Given the description of an element on the screen output the (x, y) to click on. 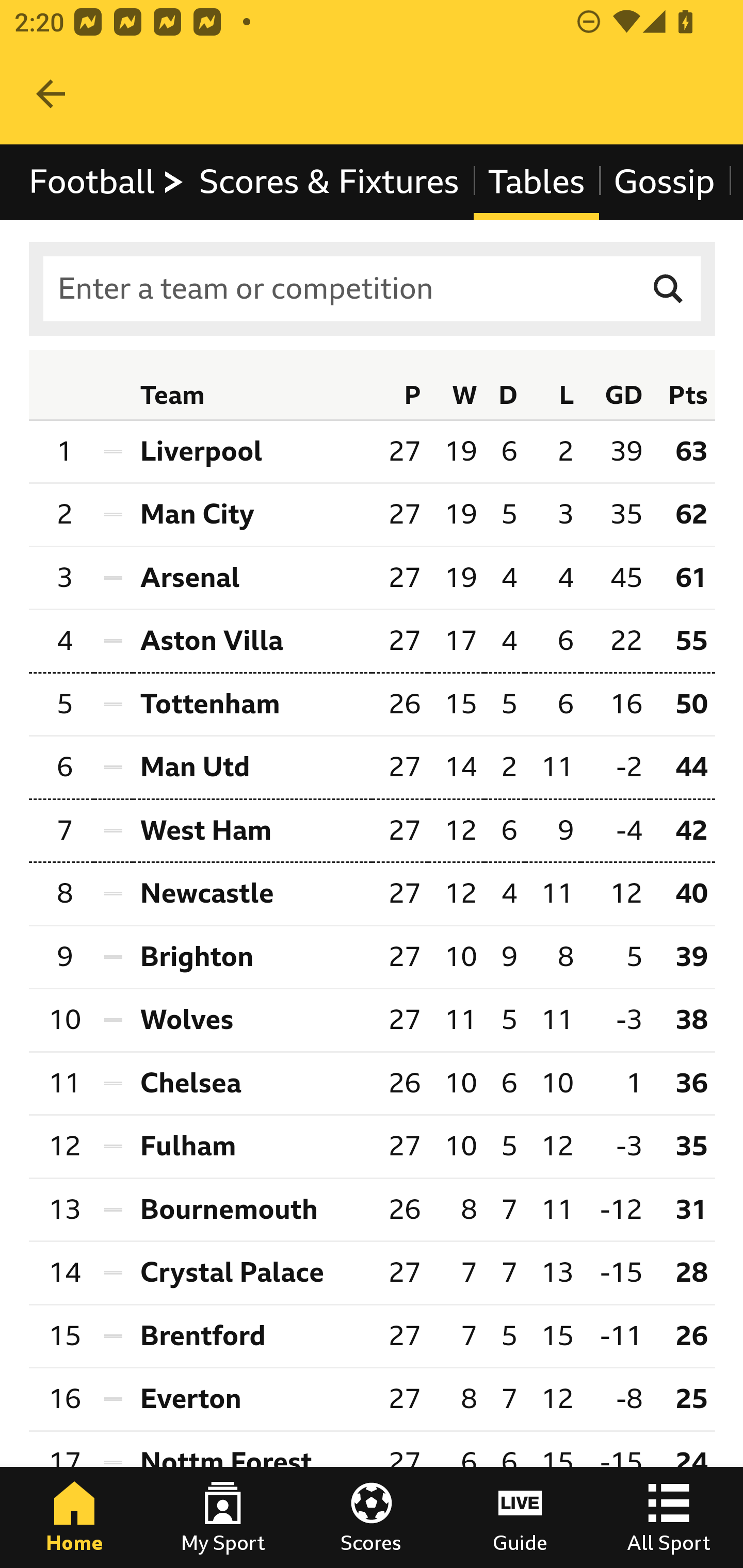
Navigate up (50, 93)
Football  (106, 181)
Scores & Fixtures (329, 181)
Tables (536, 181)
Gossip (664, 181)
Search (669, 289)
Liverpool (252, 450)
Man City Manchester City (252, 514)
Arsenal (252, 577)
Aston Villa (252, 640)
Tottenham Tottenham Hotspur (252, 704)
Man Utd Manchester United (252, 768)
West Ham West Ham United (252, 830)
Newcastle Newcastle United (252, 894)
Brighton Brighton & Hove Albion (252, 957)
Wolves Wolverhampton Wanderers (252, 1020)
Chelsea (252, 1082)
Fulham (252, 1145)
Bournemouth AFC Bournemouth (252, 1209)
Crystal Palace (252, 1271)
Brentford (252, 1335)
Everton (252, 1399)
My Sport (222, 1517)
Scores (371, 1517)
Guide (519, 1517)
All Sport (668, 1517)
